Given the description of an element on the screen output the (x, y) to click on. 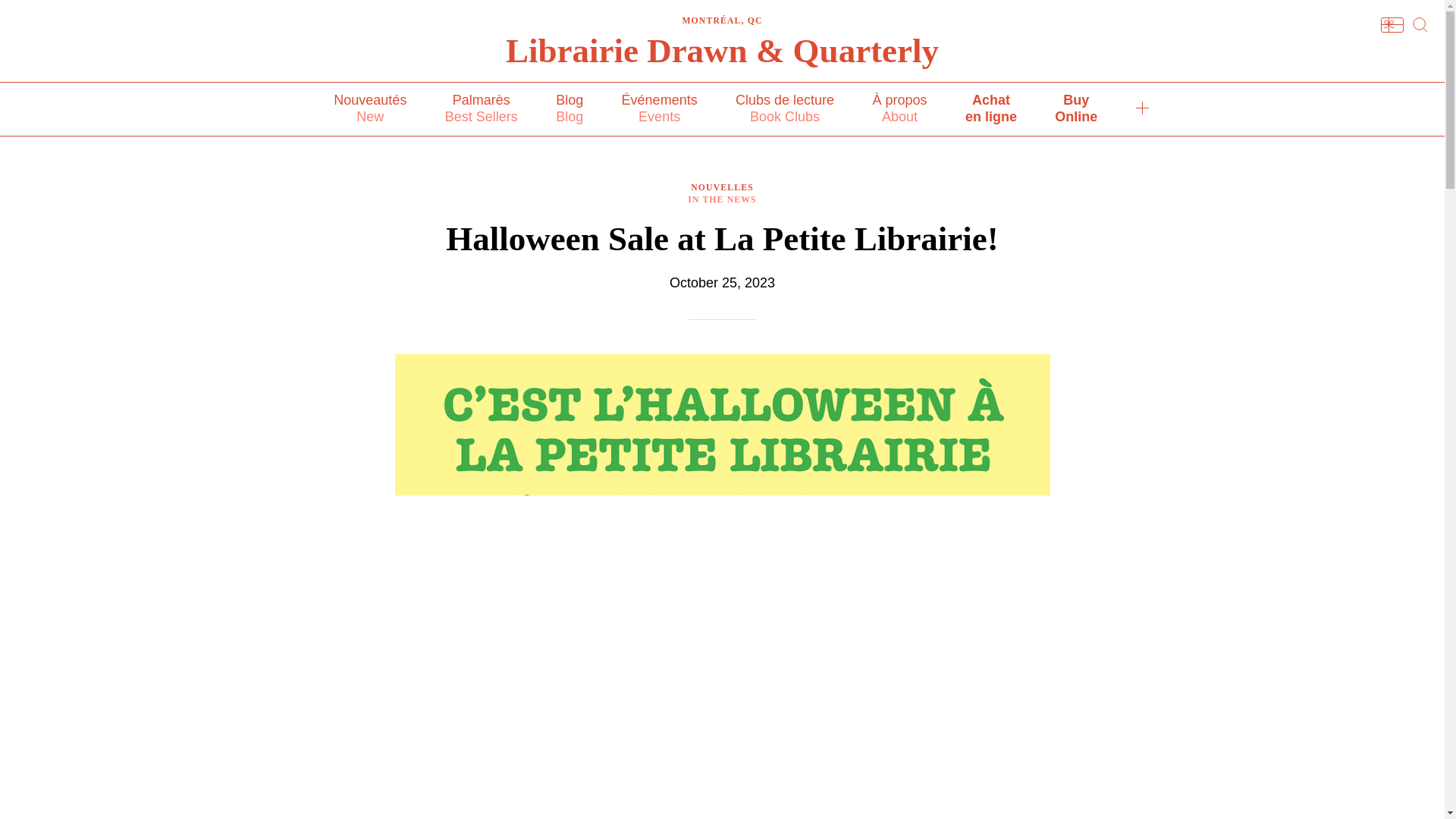
ARTS (784, 108)
